Given the description of an element on the screen output the (x, y) to click on. 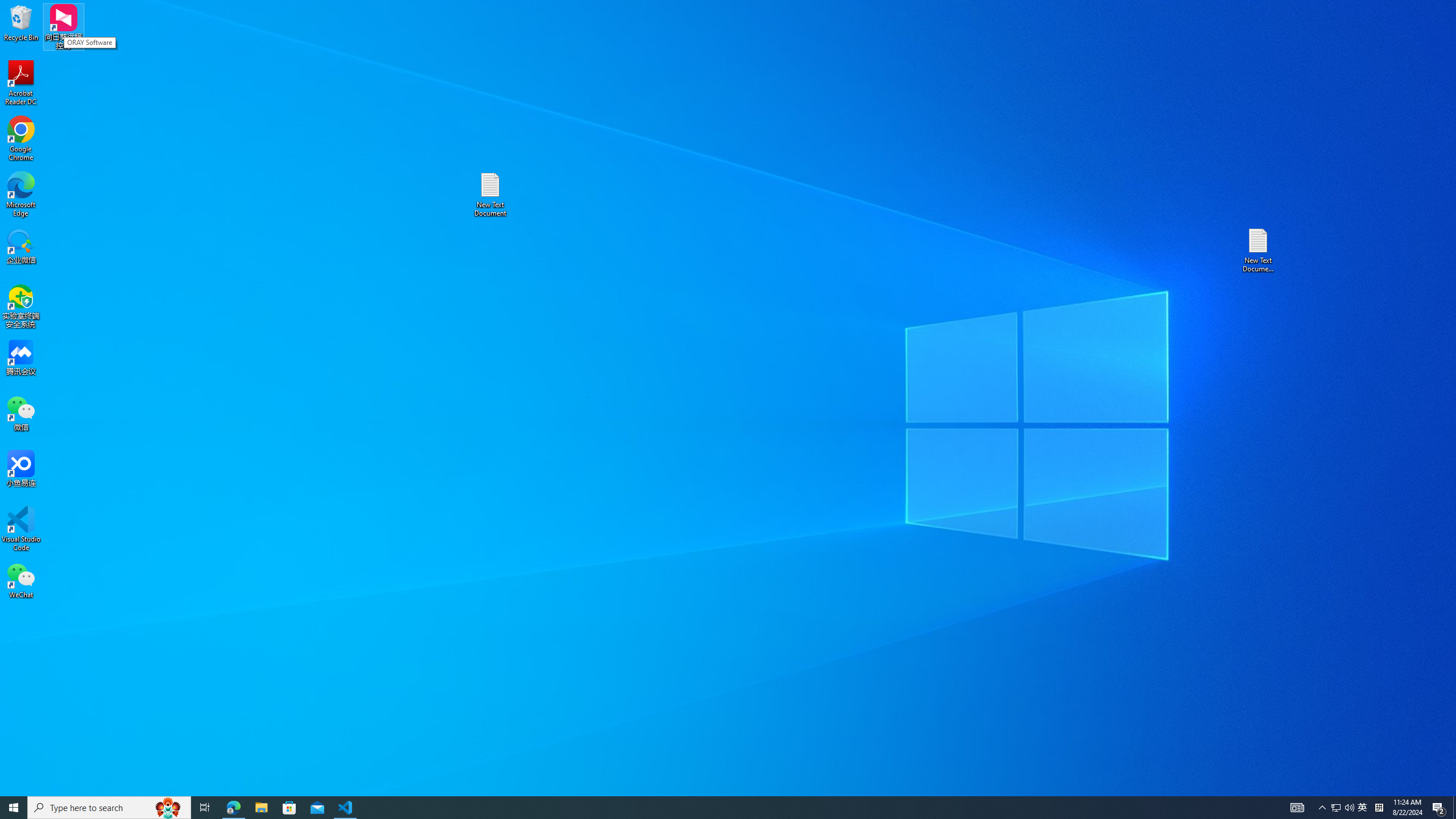
Recycle Bin (1362, 807)
File Explorer (21, 22)
Start (261, 807)
Running applications (13, 807)
Q2790: 100% (707, 807)
Acrobat Reader DC (1349, 807)
WeChat (21, 82)
Tray Input Indicator - Chinese (Simplified, China) (21, 580)
Type here to search (1378, 807)
Notification Chevron (108, 807)
Microsoft Edge - 1 running window (1322, 807)
